Given the description of an element on the screen output the (x, y) to click on. 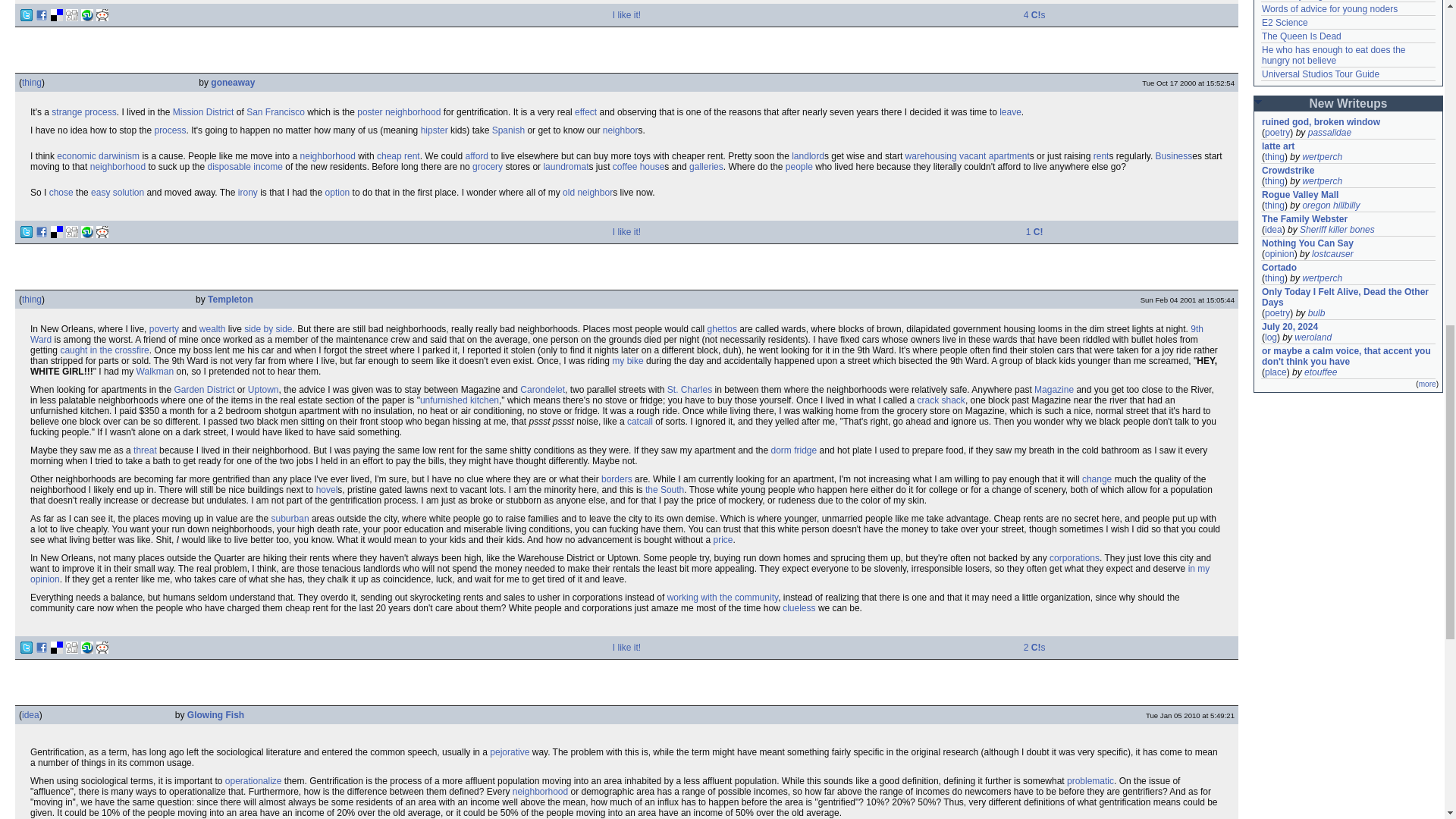
thing (31, 81)
goneaway (232, 81)
strange (65, 112)
4 C!s (1034, 14)
process (100, 112)
Mission District (203, 112)
I like it! (626, 14)
